Given the description of an element on the screen output the (x, y) to click on. 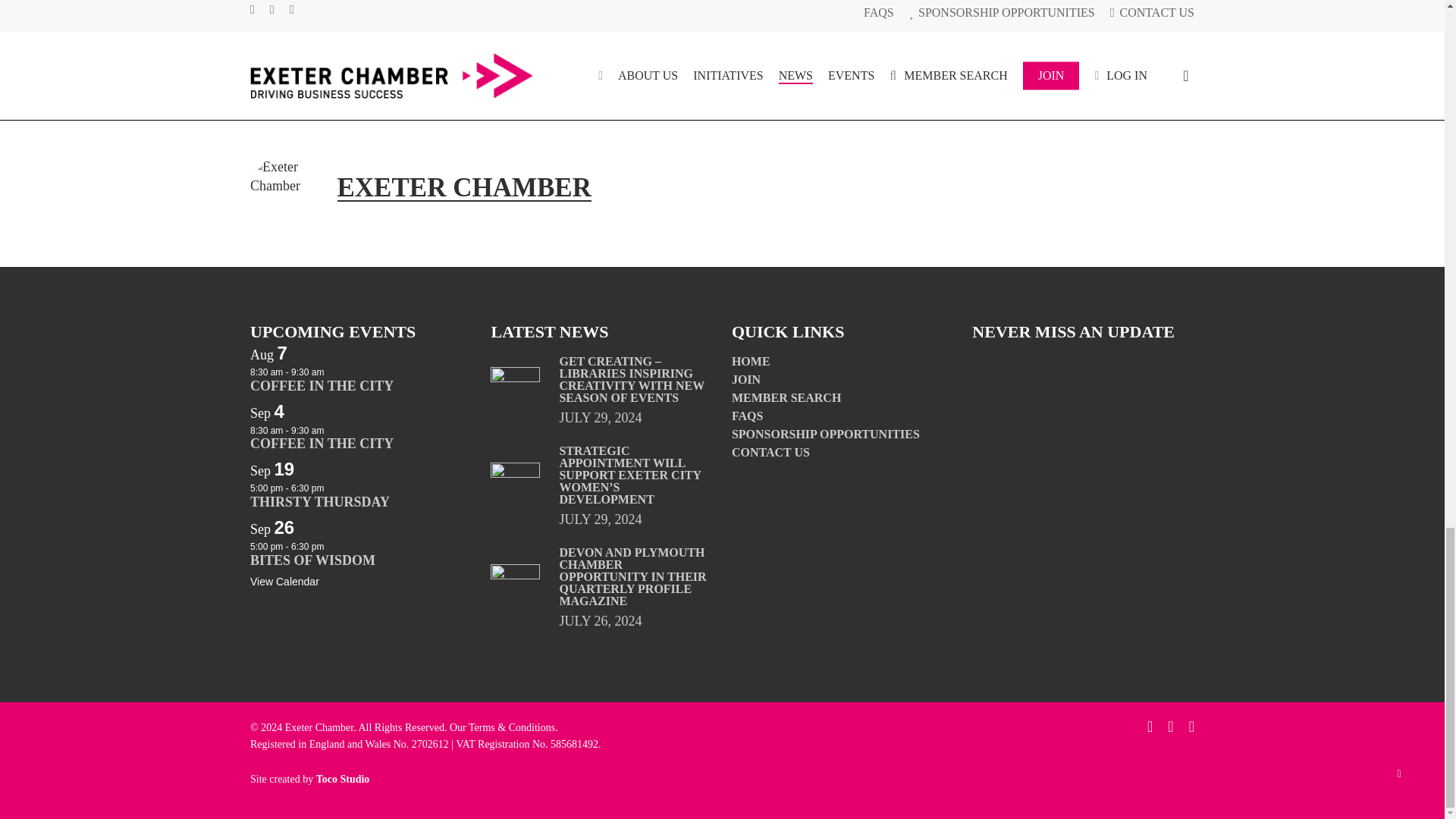
Register online here (494, 0)
Event Series (331, 486)
Event Series (331, 429)
EXETER CHAMBER (463, 187)
Event Series (331, 370)
Business (277, 86)
